Given the description of an element on the screen output the (x, y) to click on. 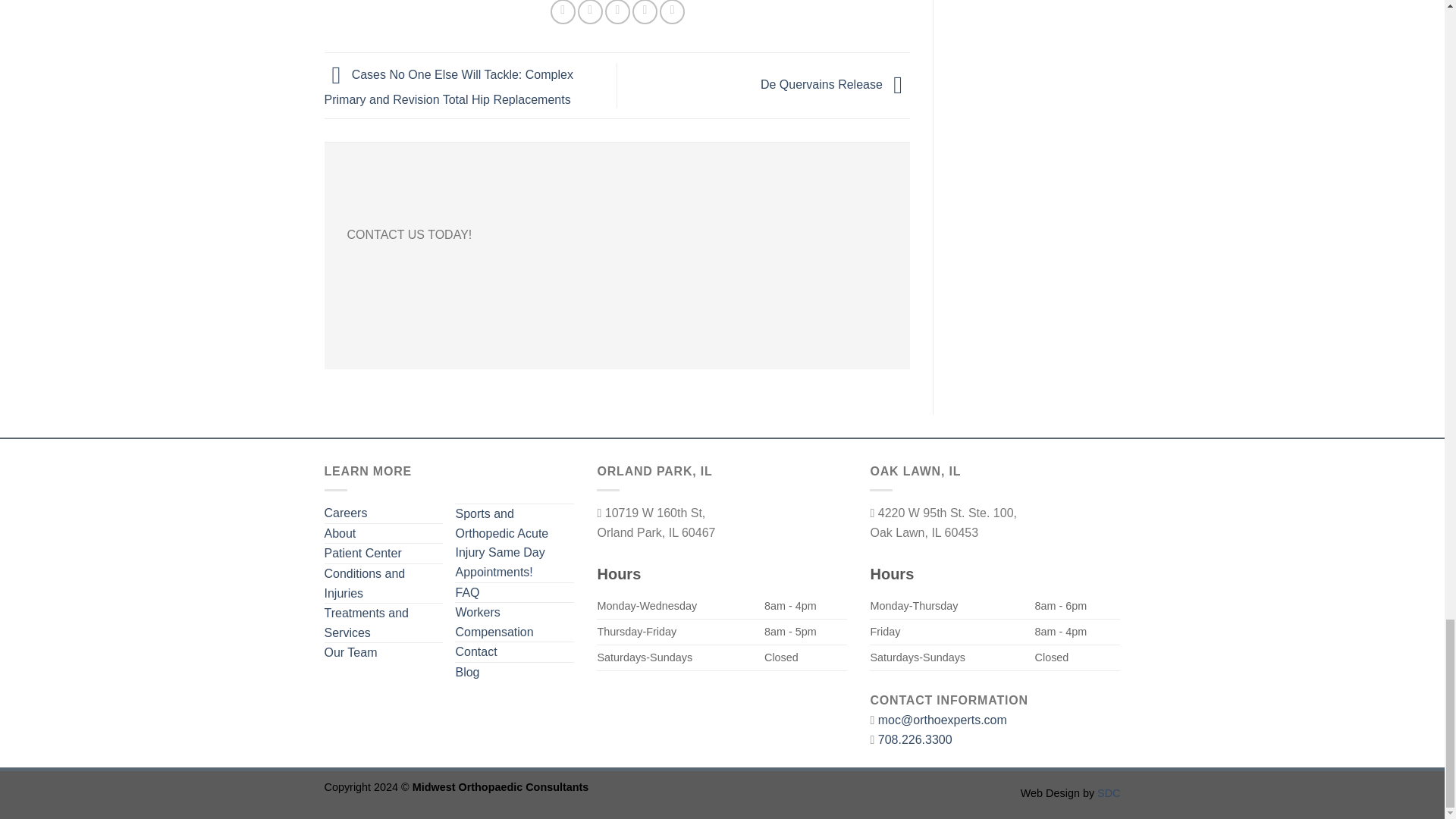
Share on LinkedIn (671, 12)
Share on Facebook (562, 12)
Pin on Pinterest (644, 12)
Email to a Friend (617, 12)
Share on Twitter (590, 12)
